Given the description of an element on the screen output the (x, y) to click on. 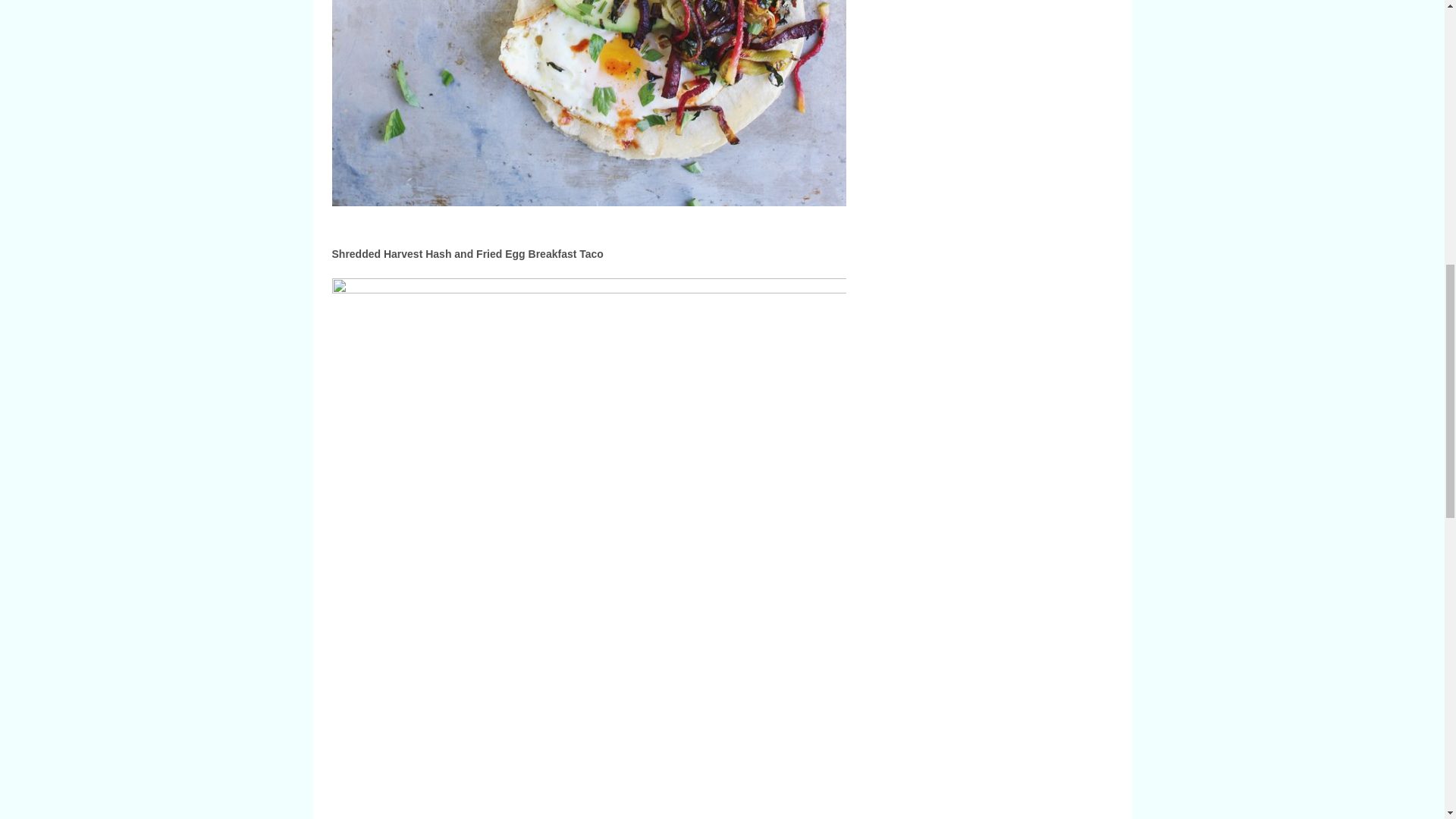
breakfast-tacos (588, 103)
